Given the description of an element on the screen output the (x, y) to click on. 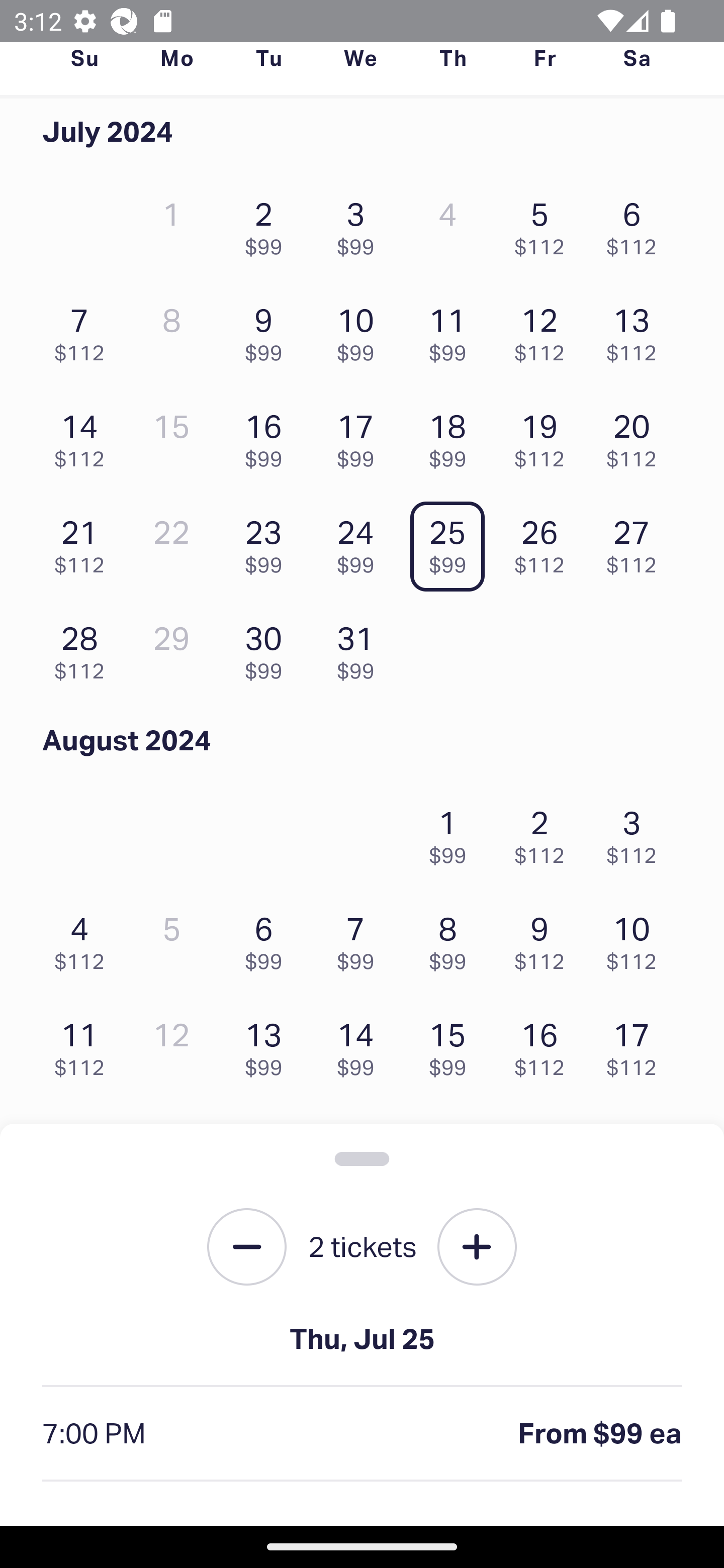
2 $99 (268, 223)
3 $99 (360, 223)
5 $112 (544, 223)
6 $112 (636, 223)
7 $112 (84, 329)
9 $99 (268, 329)
10 $99 (360, 329)
11 $99 (452, 329)
12 $112 (544, 329)
13 $112 (636, 329)
14 $112 (84, 435)
16 $99 (268, 435)
17 $99 (360, 435)
18 $99 (452, 435)
19 $112 (544, 435)
20 $112 (636, 435)
21 $112 (84, 541)
23 $99 (268, 541)
24 $99 (360, 541)
25 $99 (452, 541)
26 $112 (544, 541)
27 $112 (636, 541)
28 $112 (84, 647)
30 $99 (268, 647)
31 $99 (360, 647)
1 $99 (452, 831)
2 $112 (544, 831)
3 $112 (636, 831)
4 $112 (84, 938)
6 $99 (268, 938)
7 $99 (360, 938)
8 $99 (452, 938)
9 $112 (544, 938)
10 $112 (636, 938)
11 $112 (84, 1044)
13 $99 (268, 1044)
14 $99 (360, 1044)
15 $99 (452, 1044)
16 $112 (544, 1044)
17 $112 (636, 1044)
21 $99 (360, 1149)
7:00 PM From $99 ea (361, 1434)
